Given the description of an element on the screen output the (x, y) to click on. 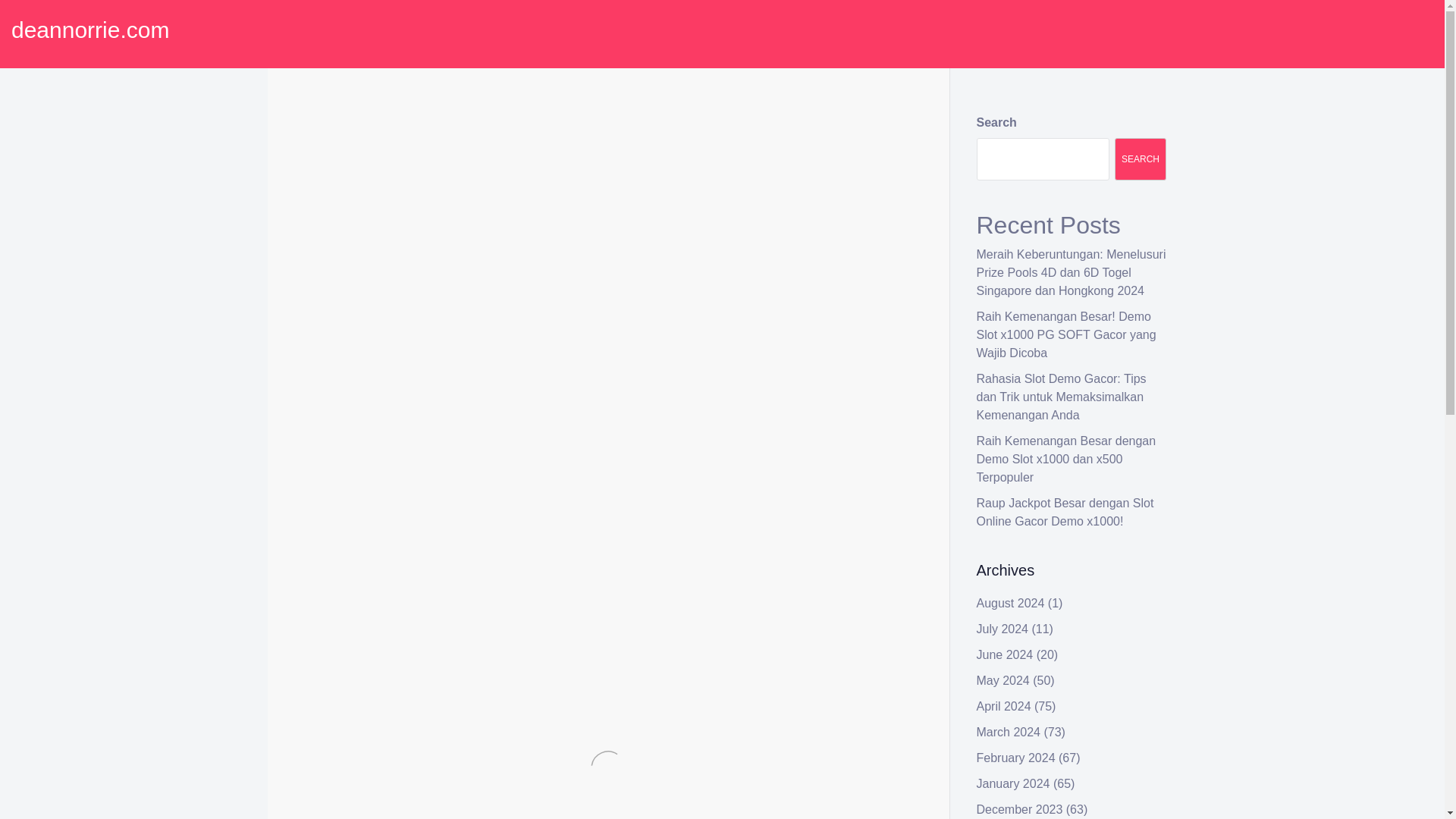
SEARCH (1140, 159)
admin (433, 143)
June 2024 (1004, 654)
Raup Jackpot Besar dengan Slot Online Gacor Demo x1000! (1065, 511)
July 2024 (1002, 628)
January 2024 (1012, 783)
April 2024 (1003, 706)
February 2024 (1015, 757)
deannorrie.com (89, 29)
